Given the description of an element on the screen output the (x, y) to click on. 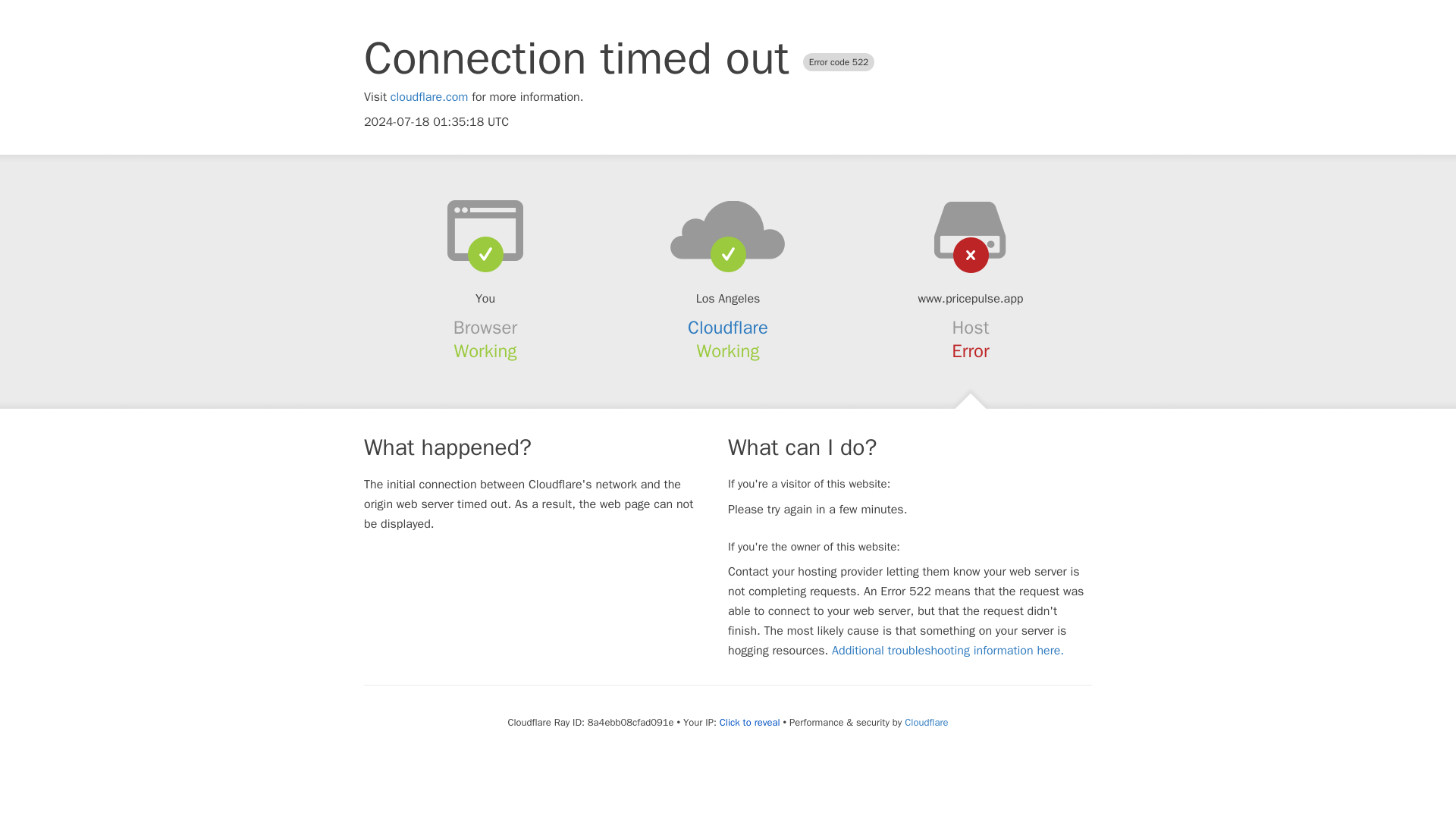
Additional troubleshooting information here. (947, 650)
Cloudflare (925, 721)
Cloudflare (727, 327)
Click to reveal (749, 722)
cloudflare.com (429, 96)
